Given the description of an element on the screen output the (x, y) to click on. 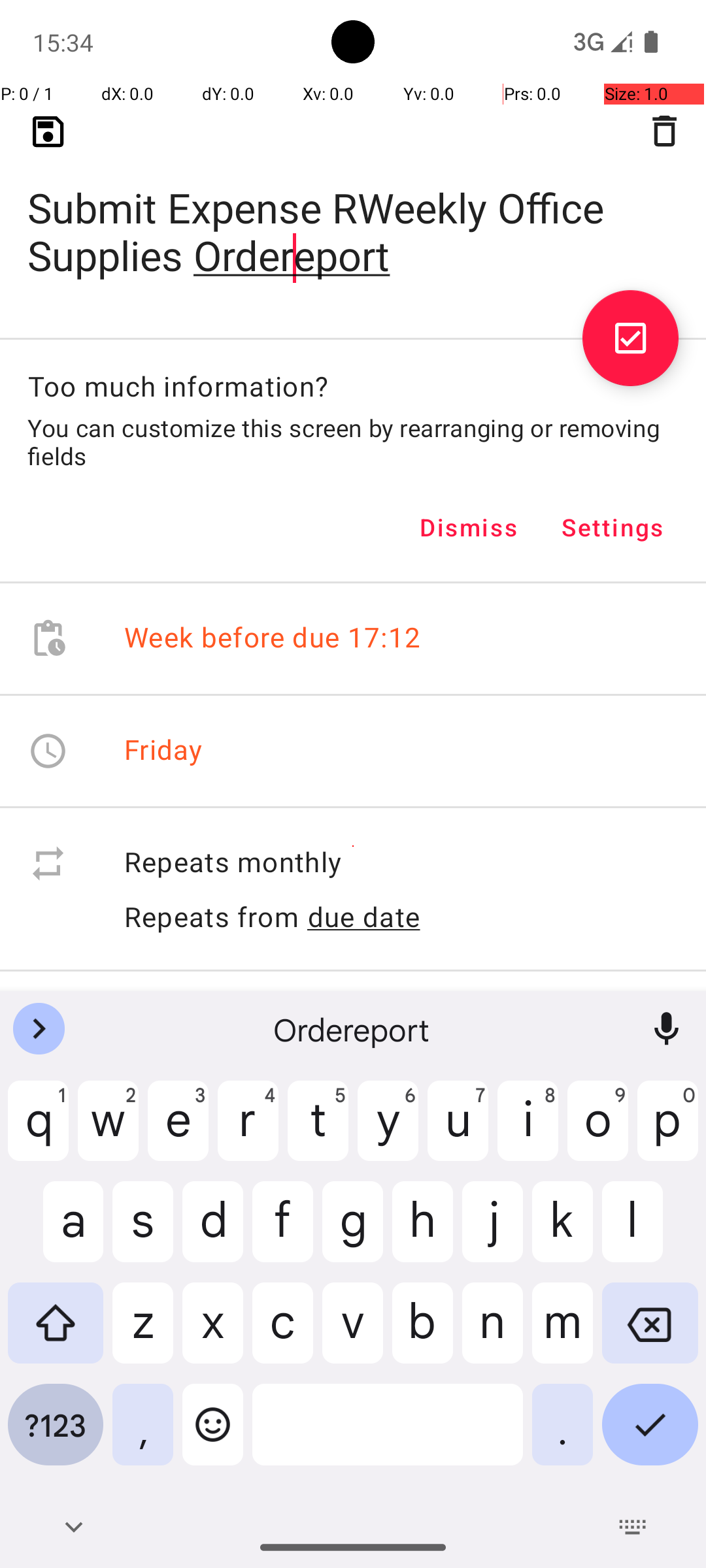
Submit Expense RWeekly Office Supplies Ordereport Element type: android.widget.EditText (353, 210)
Week before due 17:12 Element type: android.widget.TextView (272, 638)
Repeats monthly Element type: android.widget.TextView (400, 862)
Repeats from Element type: android.widget.TextView (211, 915)
due date Element type: android.widget.TextView (363, 916)
Ordereport Element type: android.widget.FrameLayout (352, 1028)
